Given the description of an element on the screen output the (x, y) to click on. 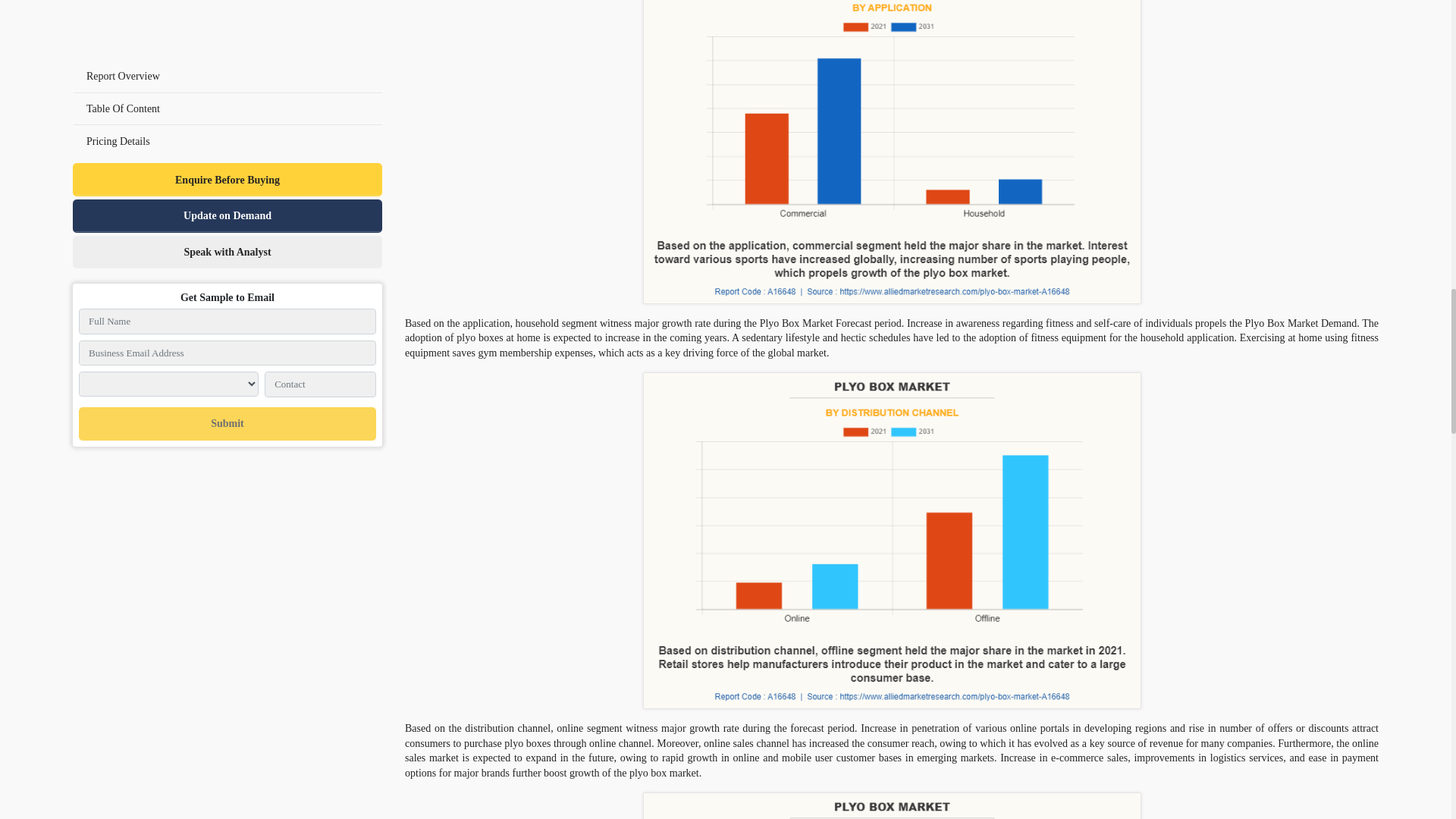
Plyo Box Market by Region (892, 805)
